Given the description of an element on the screen output the (x, y) to click on. 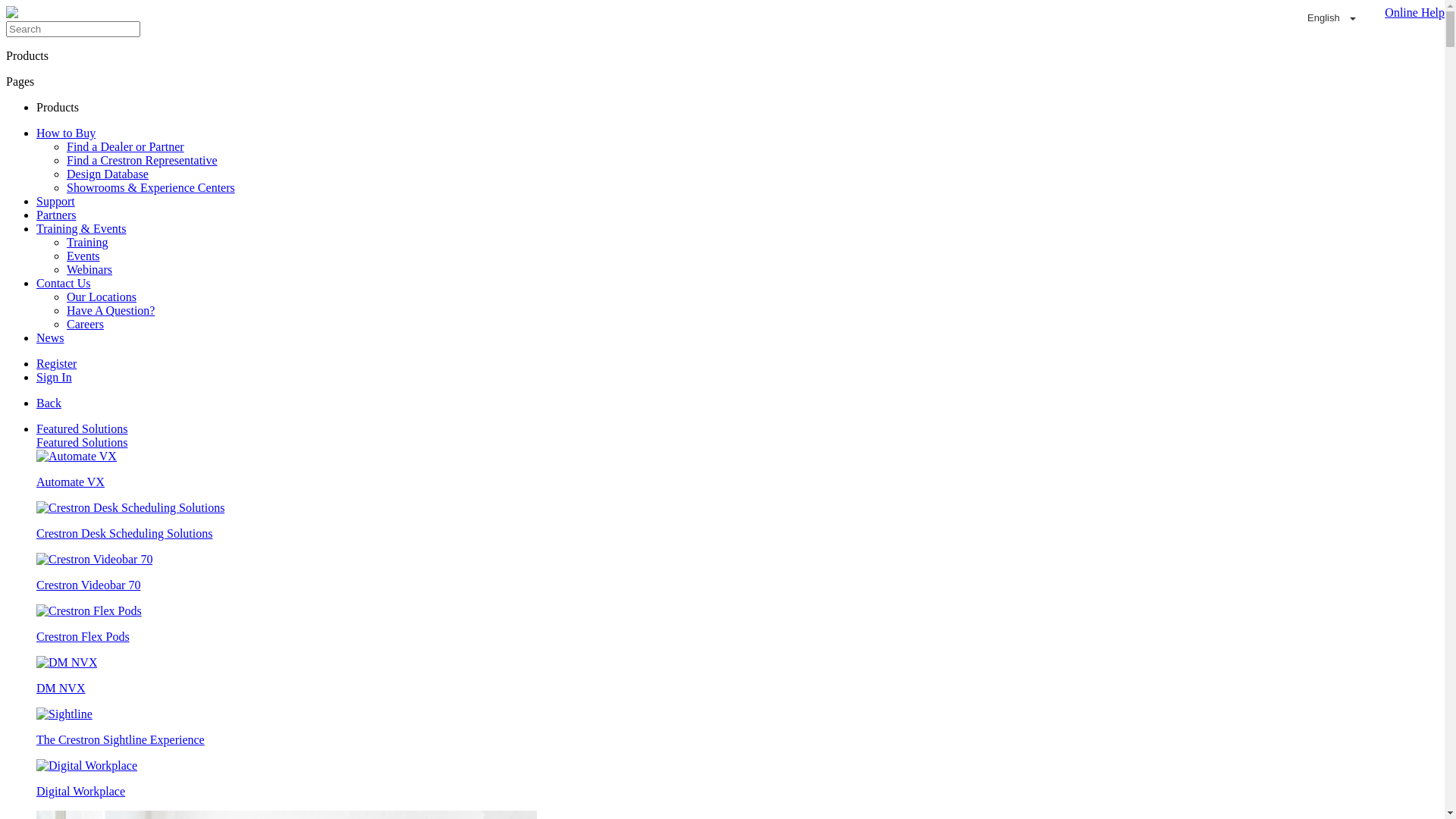
Careers Element type: text (84, 323)
Have A Question? Element type: text (110, 310)
Contact Us Element type: text (63, 282)
The Crestron Sightline Experience Element type: text (737, 726)
Products Element type: text (57, 106)
Crestron Desk Scheduling Solutions Element type: text (737, 520)
Online Help Element type: text (1410, 18)
Webinars Element type: text (89, 269)
Digital Workplace Element type: text (737, 778)
Training & Events Element type: text (81, 228)
News Element type: text (49, 337)
Support Element type: text (55, 200)
Register Element type: text (56, 363)
Events Element type: text (83, 255)
English Element type: text (1331, 18)
Sign In Element type: text (54, 376)
Find a Crestron Representative Element type: text (141, 159)
Partners Element type: text (55, 214)
Crestron Flex Pods Element type: text (737, 623)
Featured Solutions Element type: text (81, 428)
Training Element type: text (87, 241)
Automate VX Element type: text (737, 469)
Find a Dealer or Partner Element type: text (125, 146)
Featured Solutions Element type: text (81, 442)
Back Element type: text (48, 402)
Crestron Videobar 70 Element type: text (737, 572)
DM NVX Element type: text (737, 675)
Design Database Element type: text (107, 173)
Showrooms & Experience Centers Element type: text (150, 187)
Our Locations Element type: text (101, 296)
How to Buy Element type: text (65, 132)
